Given the description of an element on the screen output the (x, y) to click on. 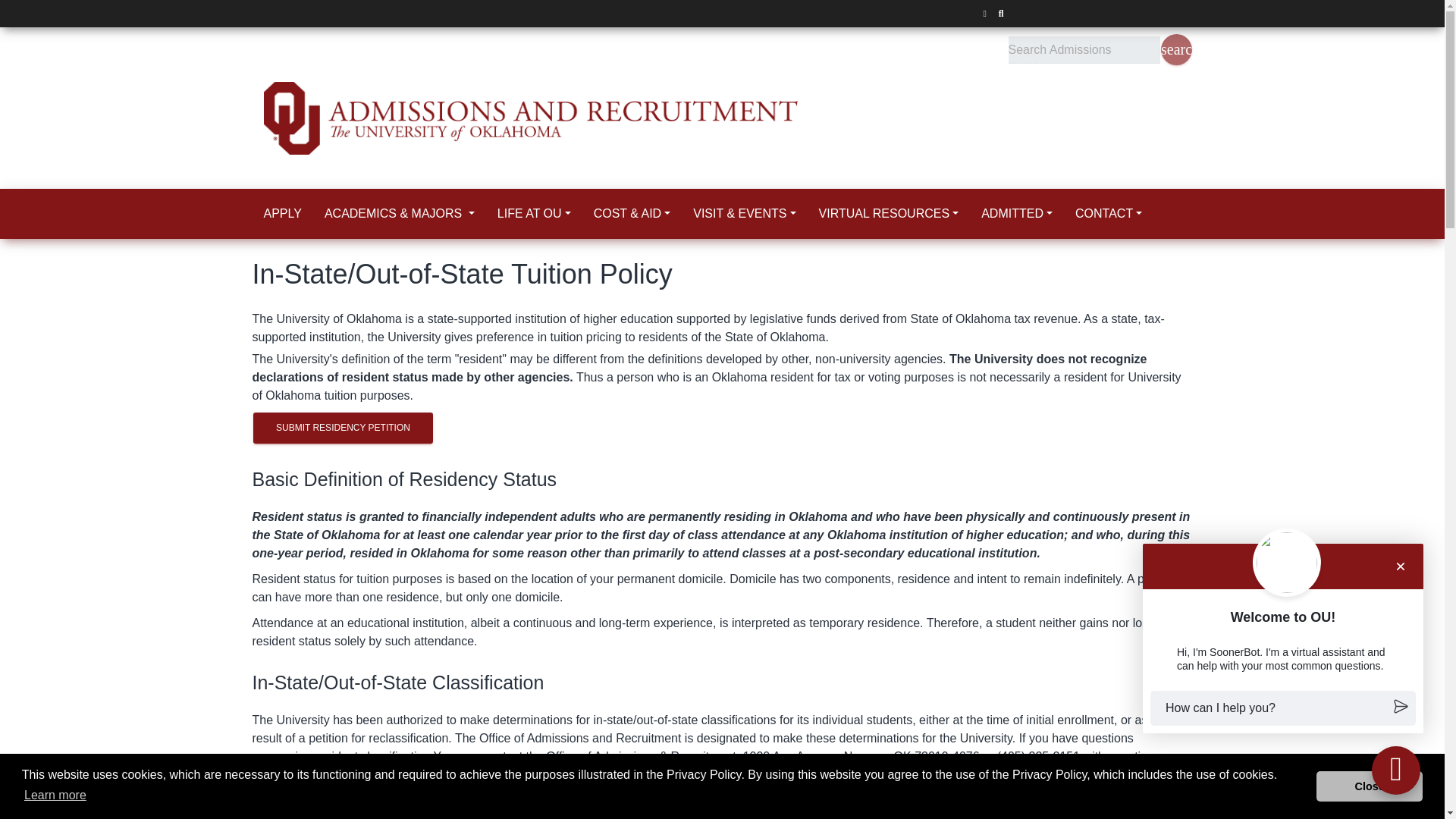
Learn more (54, 794)
Close (1369, 786)
VIRTUAL RESOURCES (889, 213)
APPLY (282, 213)
search (1175, 49)
LIFE AT OU (534, 213)
